Given the description of an element on the screen output the (x, y) to click on. 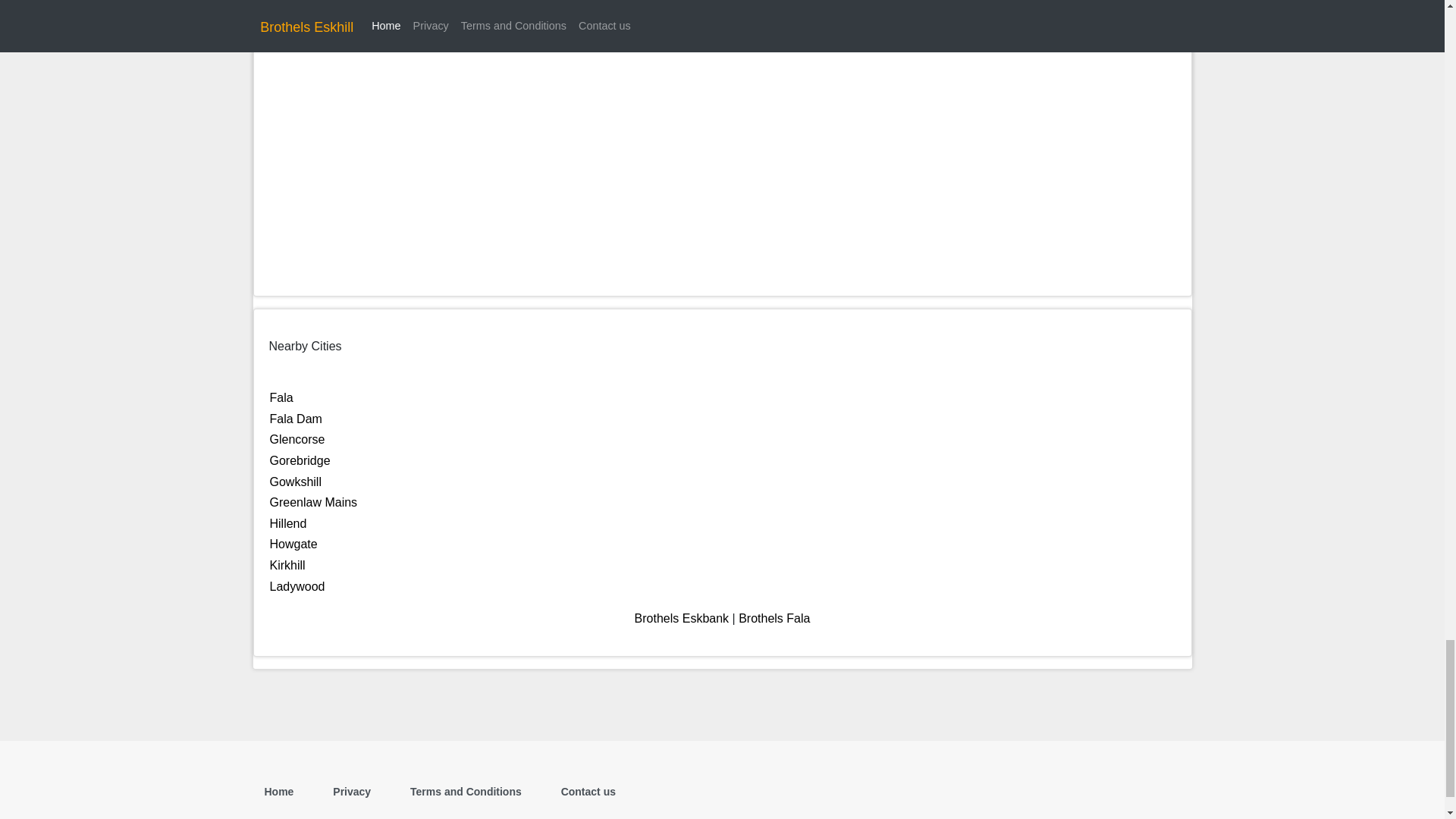
Gorebridge (299, 460)
Brothels Fala (773, 617)
Glencorse (296, 439)
Greenlaw Mains (313, 502)
Fala Dam (295, 418)
Howgate (293, 543)
Hillend (288, 522)
Kirkhill (287, 564)
Fala (281, 397)
Gowkshill (295, 481)
Brothels Eskbank (681, 617)
Ladywood (296, 585)
